Given the description of an element on the screen output the (x, y) to click on. 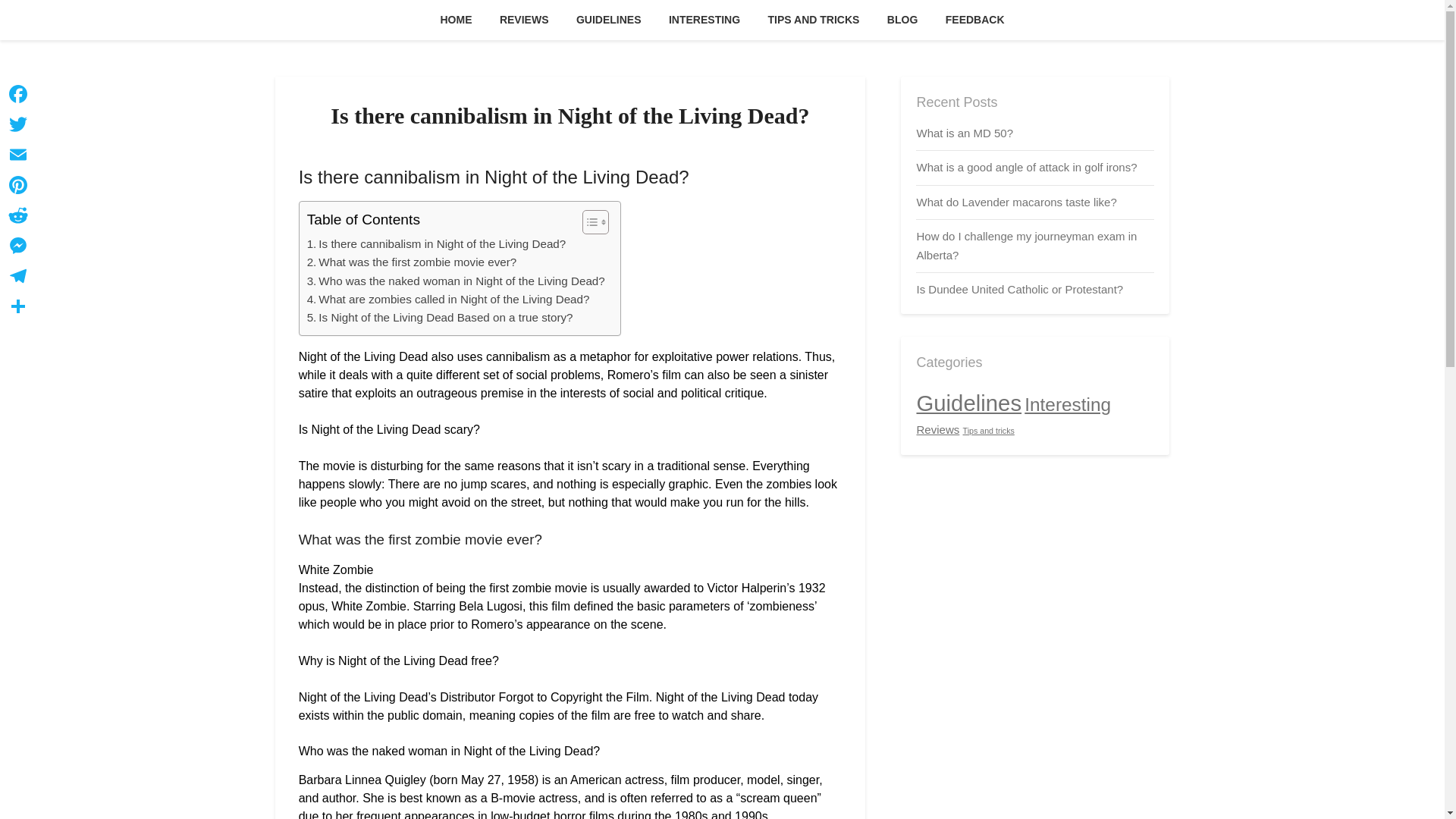
HOME (455, 20)
Who was the naked woman in Night of the Living Dead? (456, 280)
Is there cannibalism in Night of the Living Dead? (436, 244)
Telegram (17, 276)
Is Dundee United Catholic or Protestant? (1018, 288)
Is there cannibalism in Night of the Living Dead? (436, 244)
INTERESTING (704, 20)
Facebook (17, 93)
REVIEWS (523, 20)
BLOG (902, 20)
What was the first zombie movie ever? (411, 262)
Interesting (1067, 403)
What is a good angle of attack in golf irons? (1026, 166)
How do I challenge my journeyman exam in Alberta? (1026, 245)
TIPS AND TRICKS (813, 20)
